Given the description of an element on the screen output the (x, y) to click on. 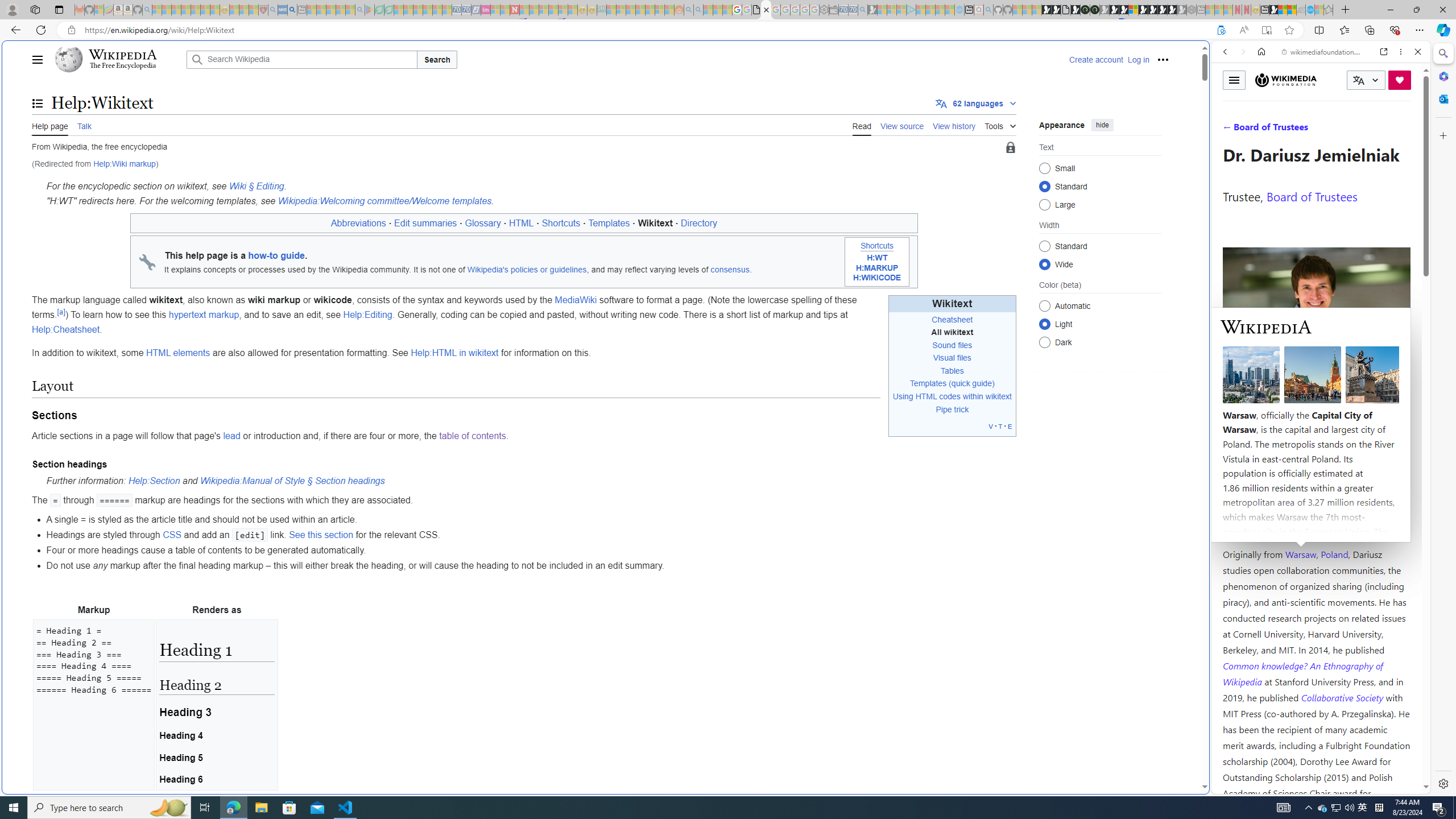
Help:Wikitext - Wikipedia (766, 9)
Log in (1137, 58)
Visual files (952, 357)
Search Wikipedia (301, 59)
